Given the description of an element on the screen output the (x, y) to click on. 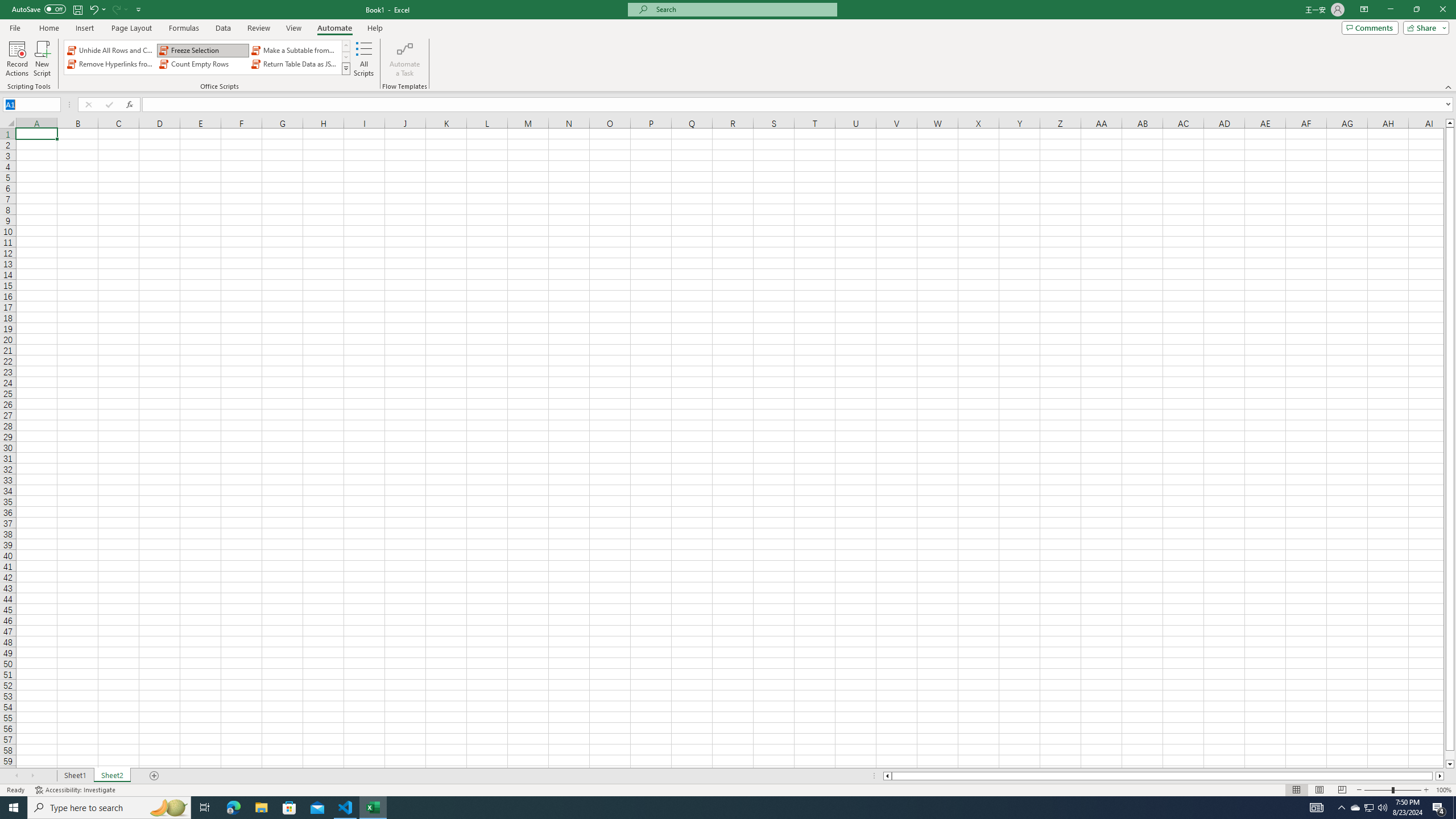
Freeze Selection (202, 50)
Accessibility Checker Accessibility: Investigate (76, 790)
AutomationID: OfficeScriptsGallery (207, 57)
Count Empty Rows (202, 64)
Office Scripts (346, 68)
